Given the description of an element on the screen output the (x, y) to click on. 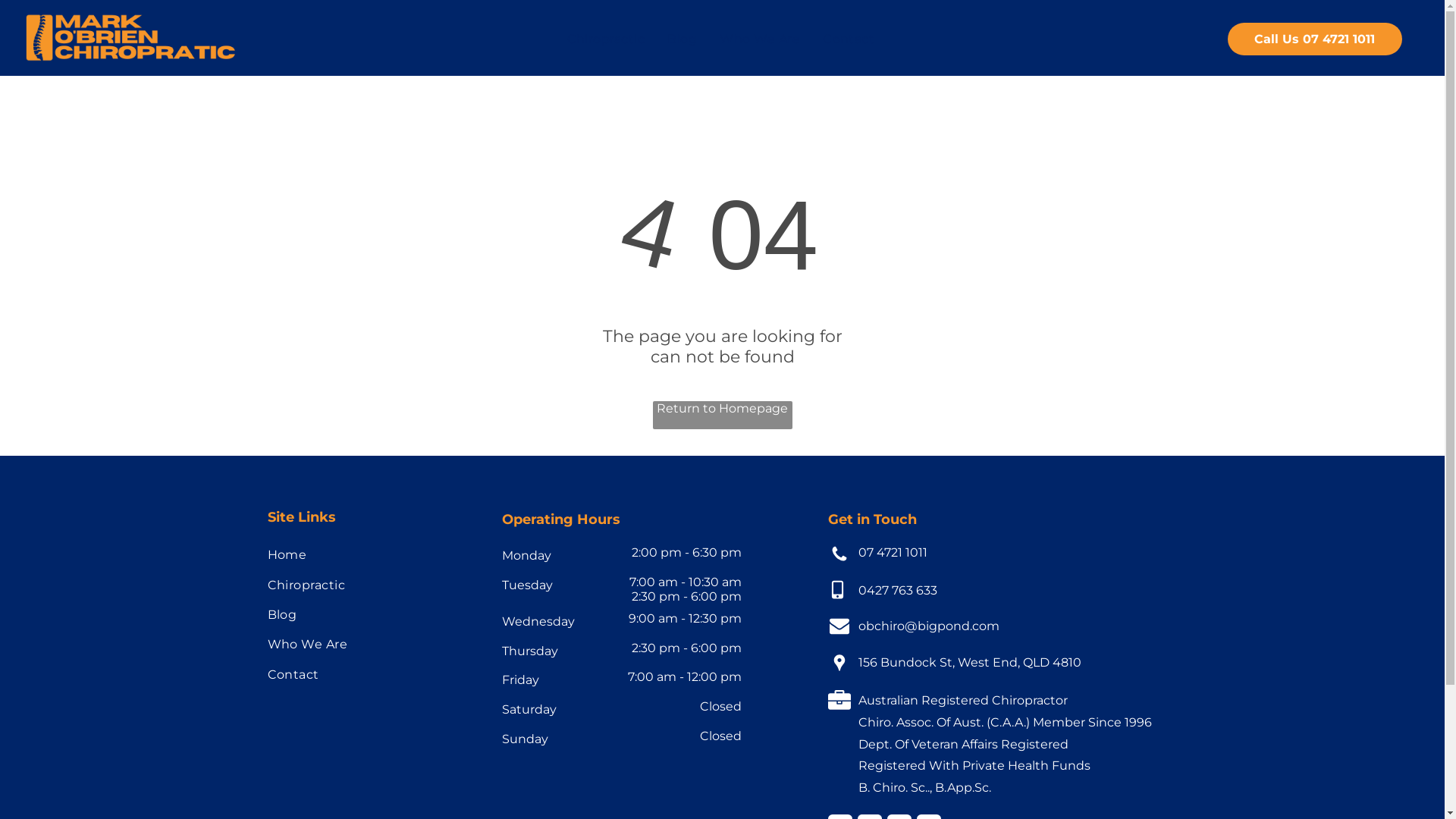
07 4721 1011 Element type: text (892, 552)
Contact Element type: text (848, 39)
Who We Are Element type: text (367, 643)
Chiropractic Element type: text (367, 584)
Blog Element type: text (681, 39)
Call Us 07 4721 1011 Element type: text (1314, 38)
0427 763 633 Element type: text (897, 590)
Blog Element type: text (367, 614)
Chiropractic Element type: text (605, 39)
obchiro@bigpond.com Element type: text (928, 625)
Who We Are Element type: text (759, 39)
Return to Homepage Element type: text (721, 415)
Contact Element type: text (367, 673)
156 Bundock St, West End, QLD 4810 Element type: text (969, 662)
Home Element type: text (367, 554)
